Given the description of an element on the screen output the (x, y) to click on. 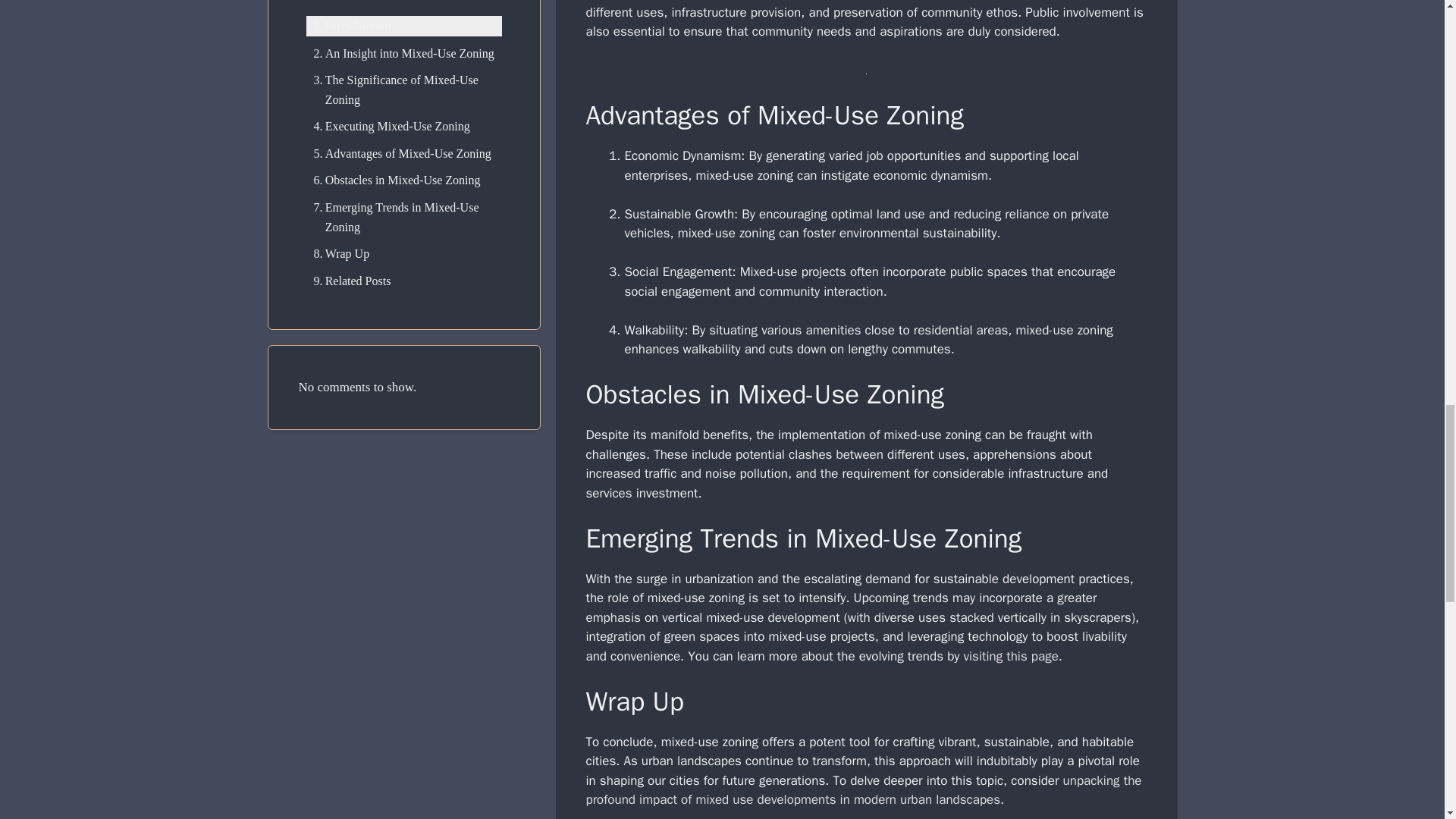
Introduction (348, 26)
Obstacles in Mixed-Use Zoning (392, 180)
Executing Mixed-Use Zoning (387, 126)
The Significance of Mixed-Use Zoning (403, 89)
An Insight into Mixed-Use Zoning (400, 53)
Advantages of Mixed-Use Zoning (398, 153)
visiting this page (1010, 656)
